Given the description of an element on the screen output the (x, y) to click on. 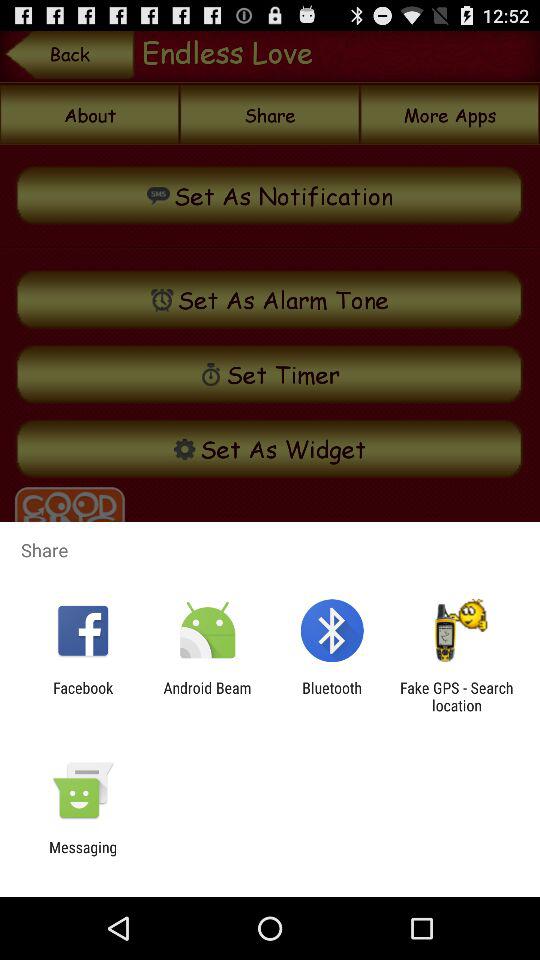
choose the app to the right of android beam (331, 696)
